Given the description of an element on the screen output the (x, y) to click on. 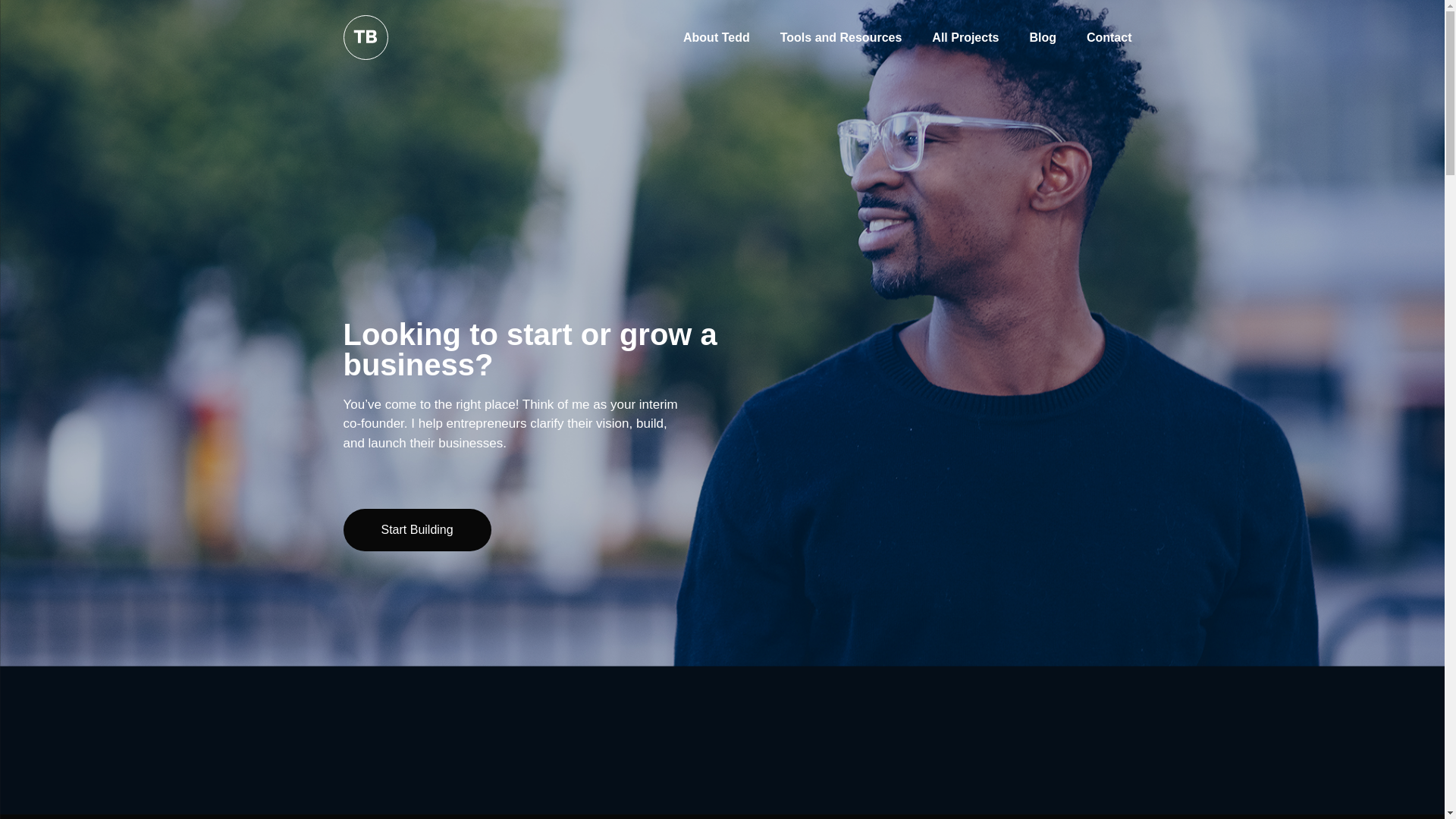
Start Building (416, 529)
Contact (1109, 36)
Tools and Resources (841, 36)
About Tedd (716, 36)
Blog (1042, 36)
All Projects (965, 36)
